Given the description of an element on the screen output the (x, y) to click on. 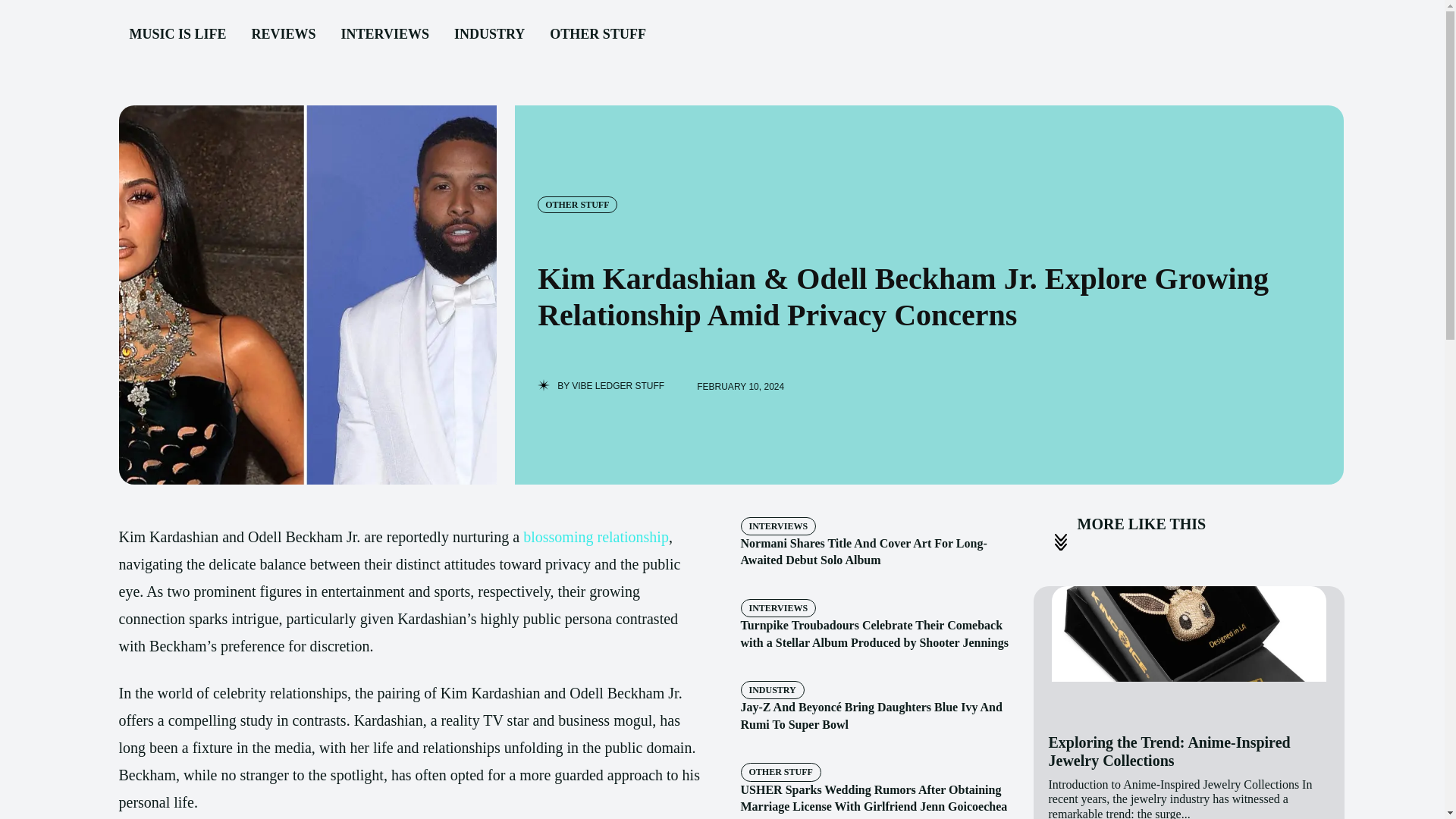
MUSIC IS LIFE (176, 34)
INTERVIEWS (384, 34)
REVIEWS (283, 34)
OTHER STUFF (780, 771)
blossoming relationship (595, 536)
INDUSTRY (489, 34)
OTHER STUFF (597, 34)
VIBE LEDGER STUFF (617, 385)
Exploring the Trend: Anime-Inspired Jewelry Collections (1169, 751)
INDUSTRY (771, 689)
OTHER STUFF (576, 204)
INTERVIEWS (777, 525)
